Given the description of an element on the screen output the (x, y) to click on. 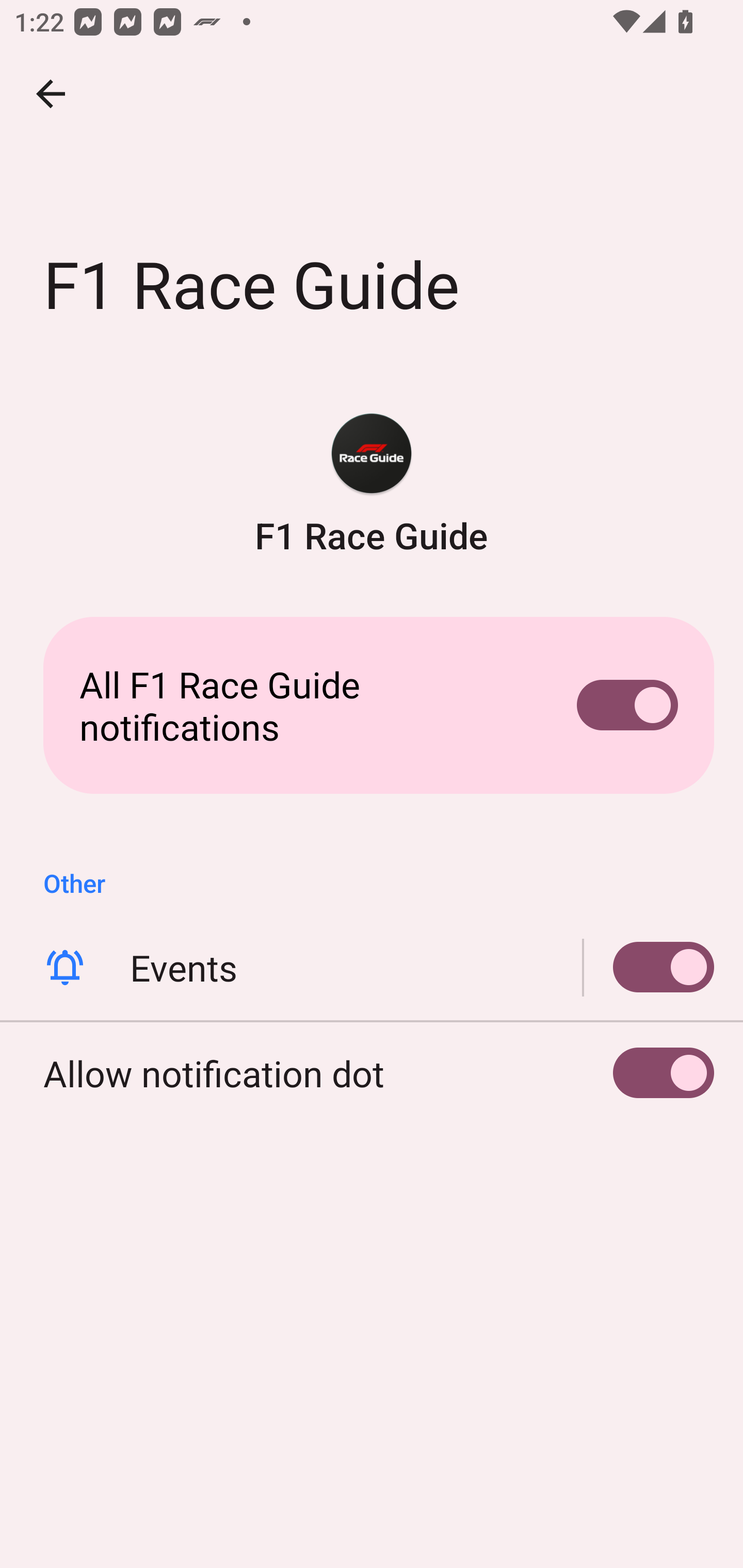
Navigate up (50, 93)
F1 Race Guide (371, 484)
All F1 Race Guide notifications (371, 705)
Events (371, 967)
Events (648, 967)
Allow notification dot (371, 1072)
